Given the description of an element on the screen output the (x, y) to click on. 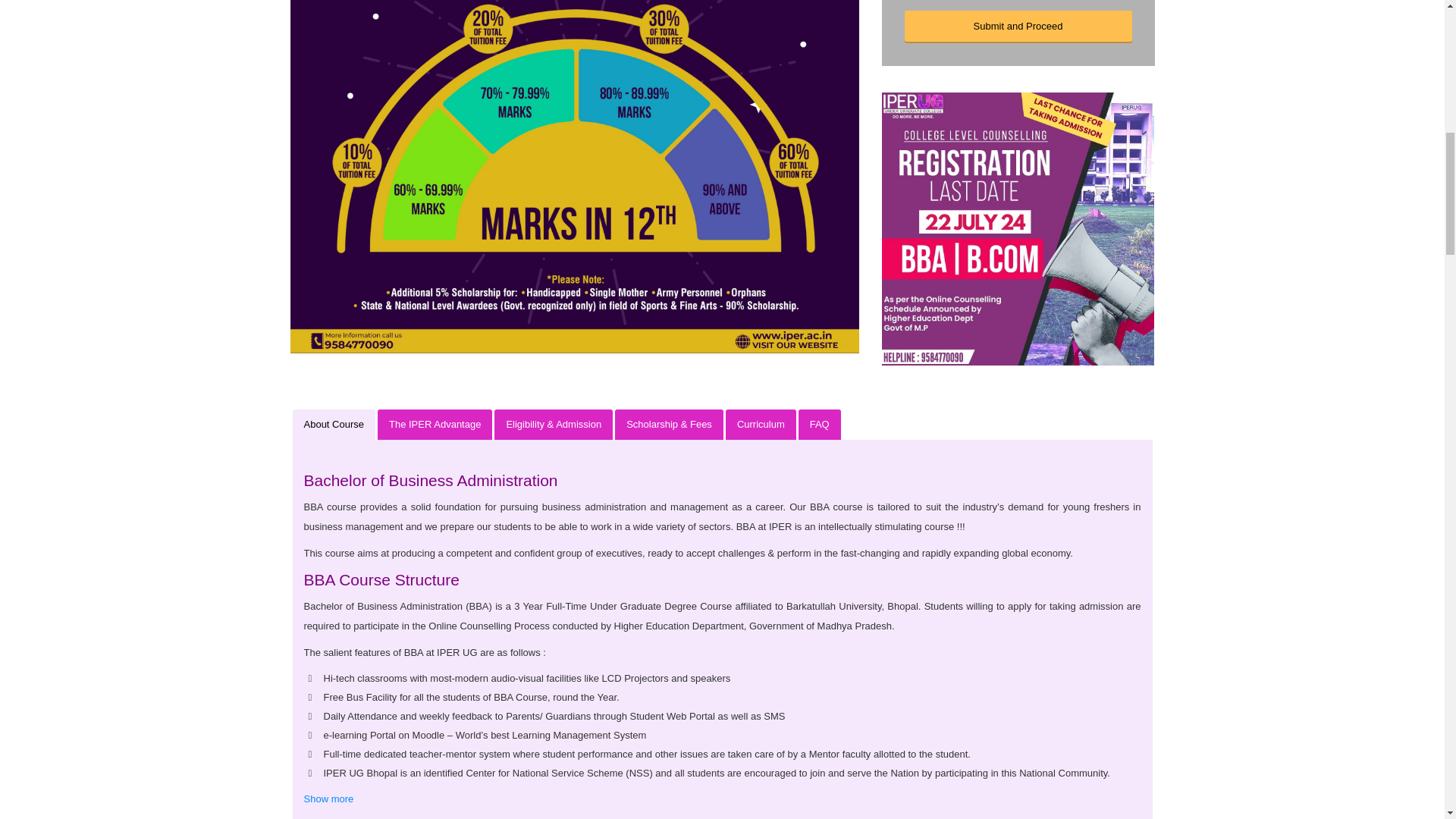
Show more (327, 798)
Submit and Proceed (1017, 26)
Submit and Proceed (1017, 26)
